Given the description of an element on the screen output the (x, y) to click on. 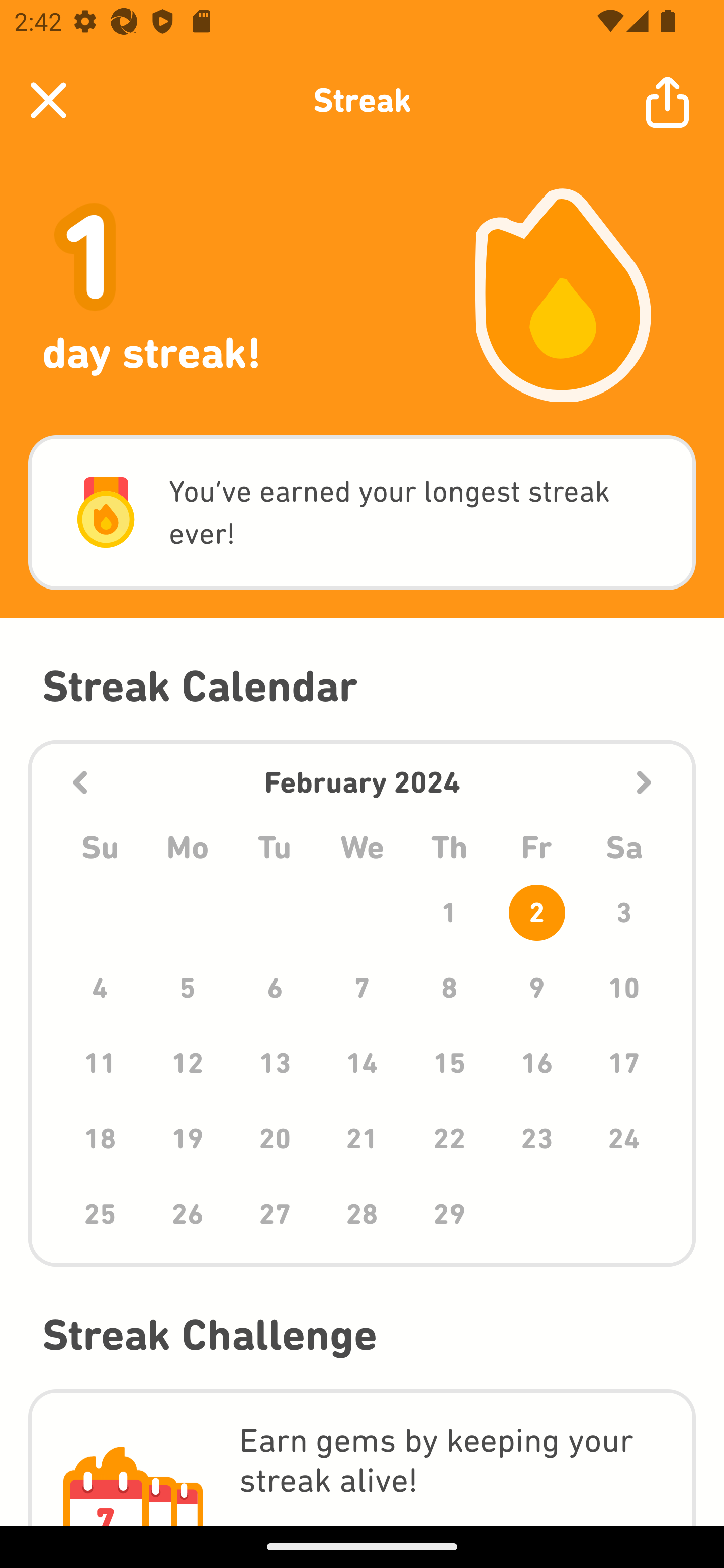
You’ve earned your longest streak ever! (361, 512)
